Given the description of an element on the screen output the (x, y) to click on. 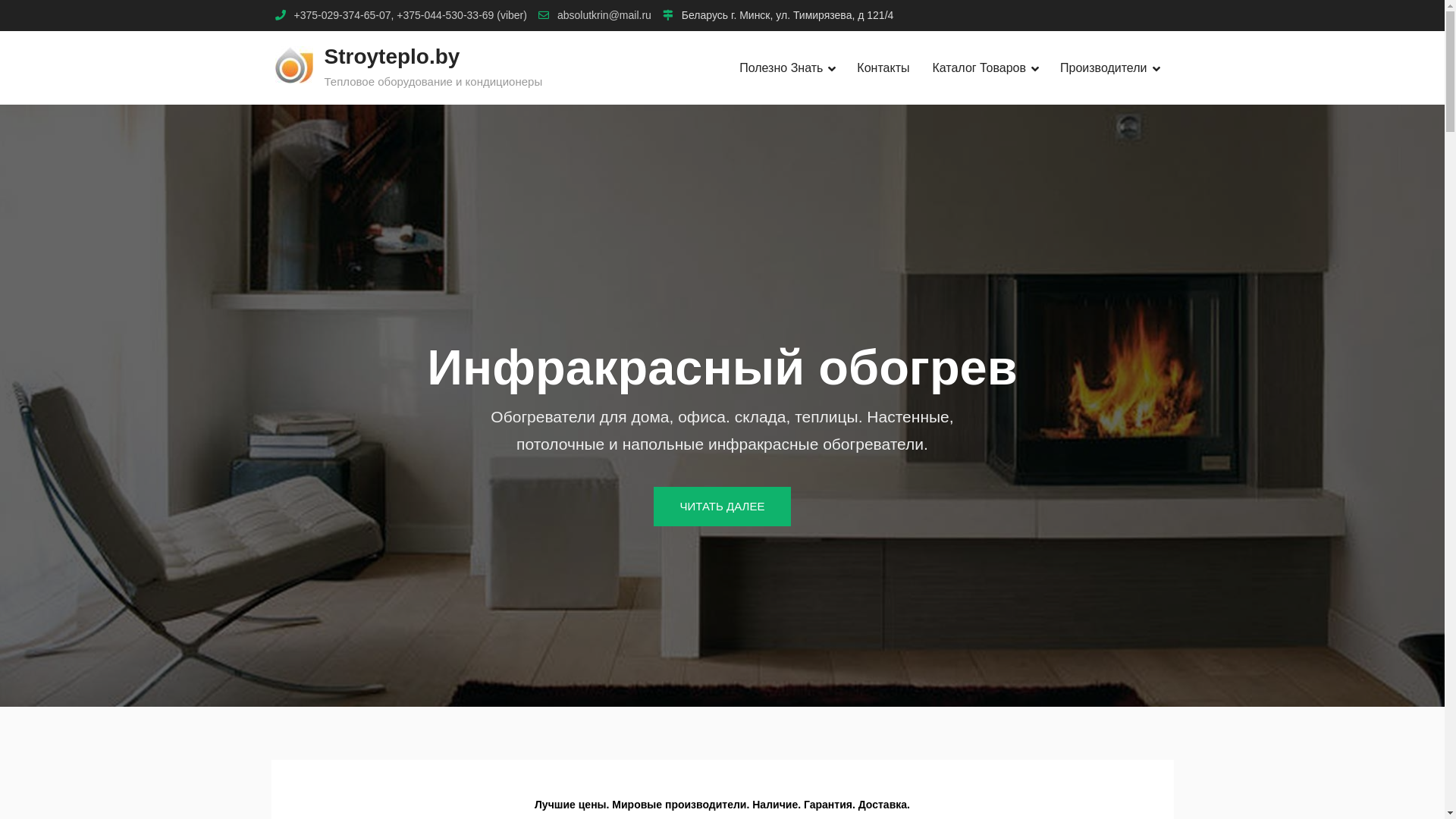
+375-029-374-65-07, +375-044-530-33-69 (viber) Element type: text (410, 15)
absolutkrin@mail.ru Element type: text (604, 15)
Stroyteplo.by Element type: text (392, 56)
